Given the description of an element on the screen output the (x, y) to click on. 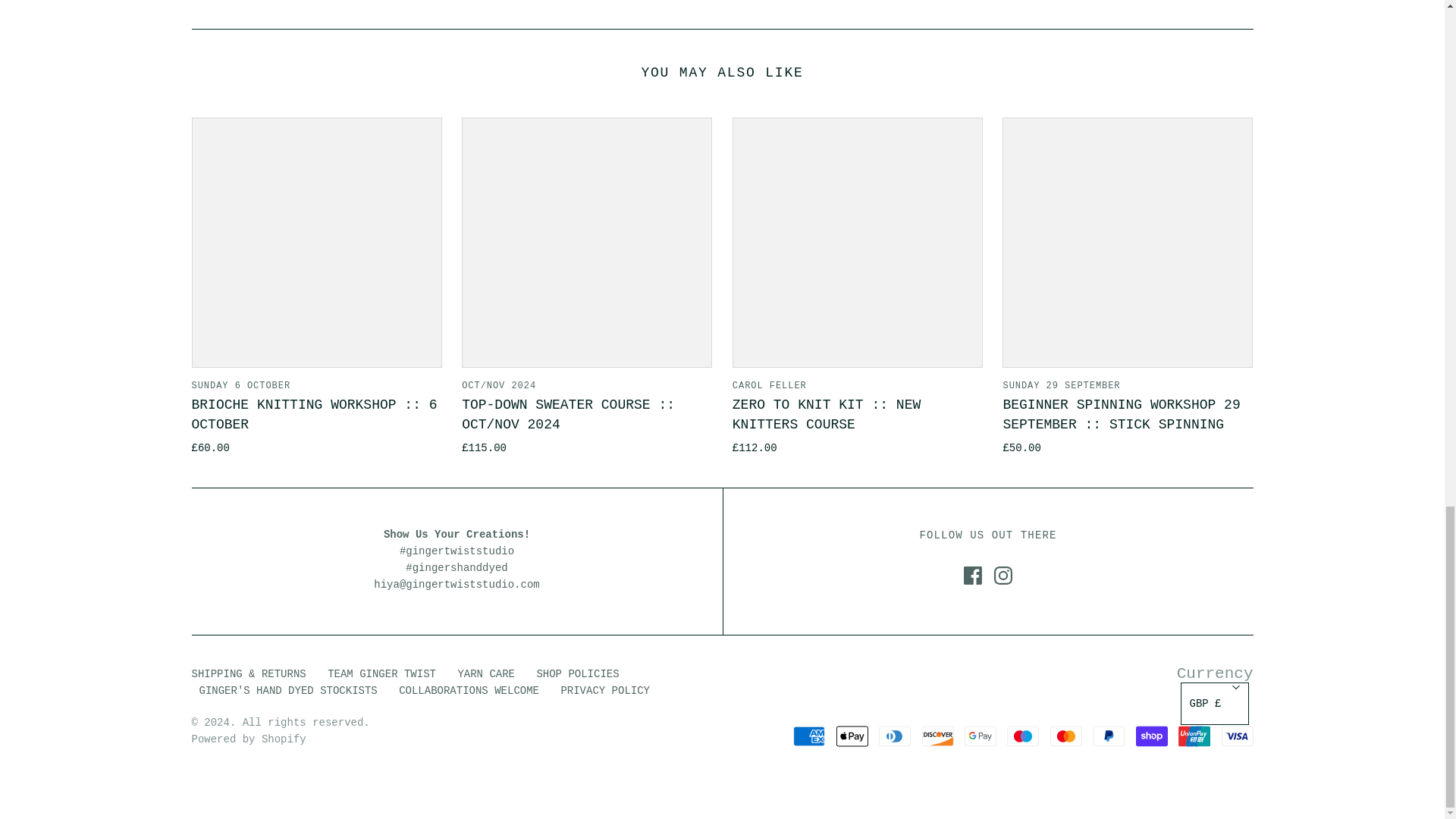
Shop Pay (1151, 736)
Mastercard (1065, 736)
SUNDAY 6 OCTOBER (239, 385)
Maestro (1023, 736)
CAROL FELLER (769, 385)
American Express (809, 736)
PayPal (1108, 736)
Union Pay (1193, 736)
Google Pay (979, 736)
Apple Pay (851, 736)
